Given the description of an element on the screen output the (x, y) to click on. 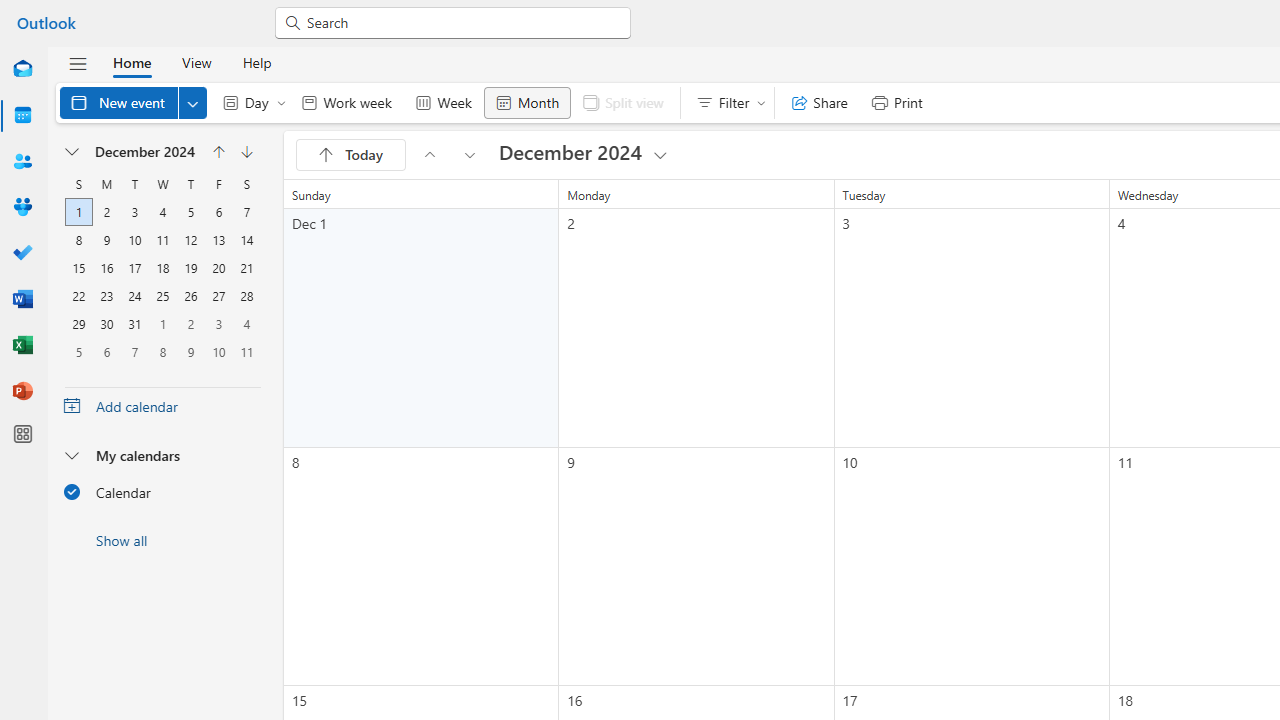
27, December, 2024 (218, 295)
To Do (22, 254)
My calendarsCalendar (162, 479)
16, December, 2024 (106, 268)
10, December, 2024 (134, 240)
22, December, 2024 (79, 296)
Date selector (73, 152)
24, December, 2024 (134, 296)
13, December, 2024 (218, 240)
5, January, 2025 (78, 351)
9, January, 2025 (191, 351)
4, January, 2025 (246, 323)
More apps (22, 434)
Expand to see more New options (192, 102)
14, December, 2024 (246, 240)
